Given the description of an element on the screen output the (x, y) to click on. 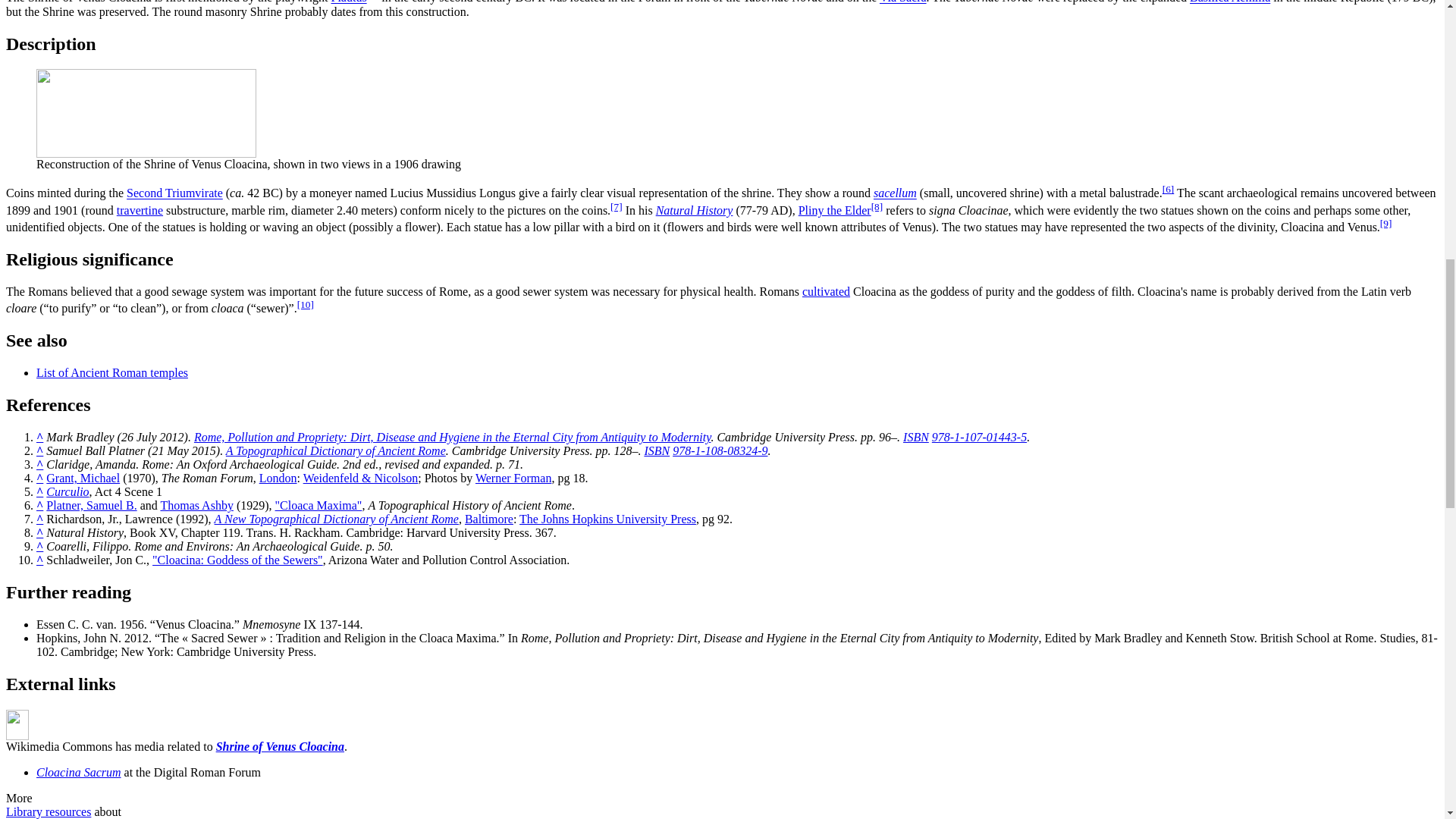
Basilica Aemilia (1229, 2)
Natural History (694, 210)
Pliny the Elder (833, 210)
travertine (139, 210)
Plautus (348, 2)
Second Triumvirate (174, 193)
Via Sacra (902, 2)
Plautus (348, 2)
sacellum (895, 193)
